Given the description of an element on the screen output the (x, y) to click on. 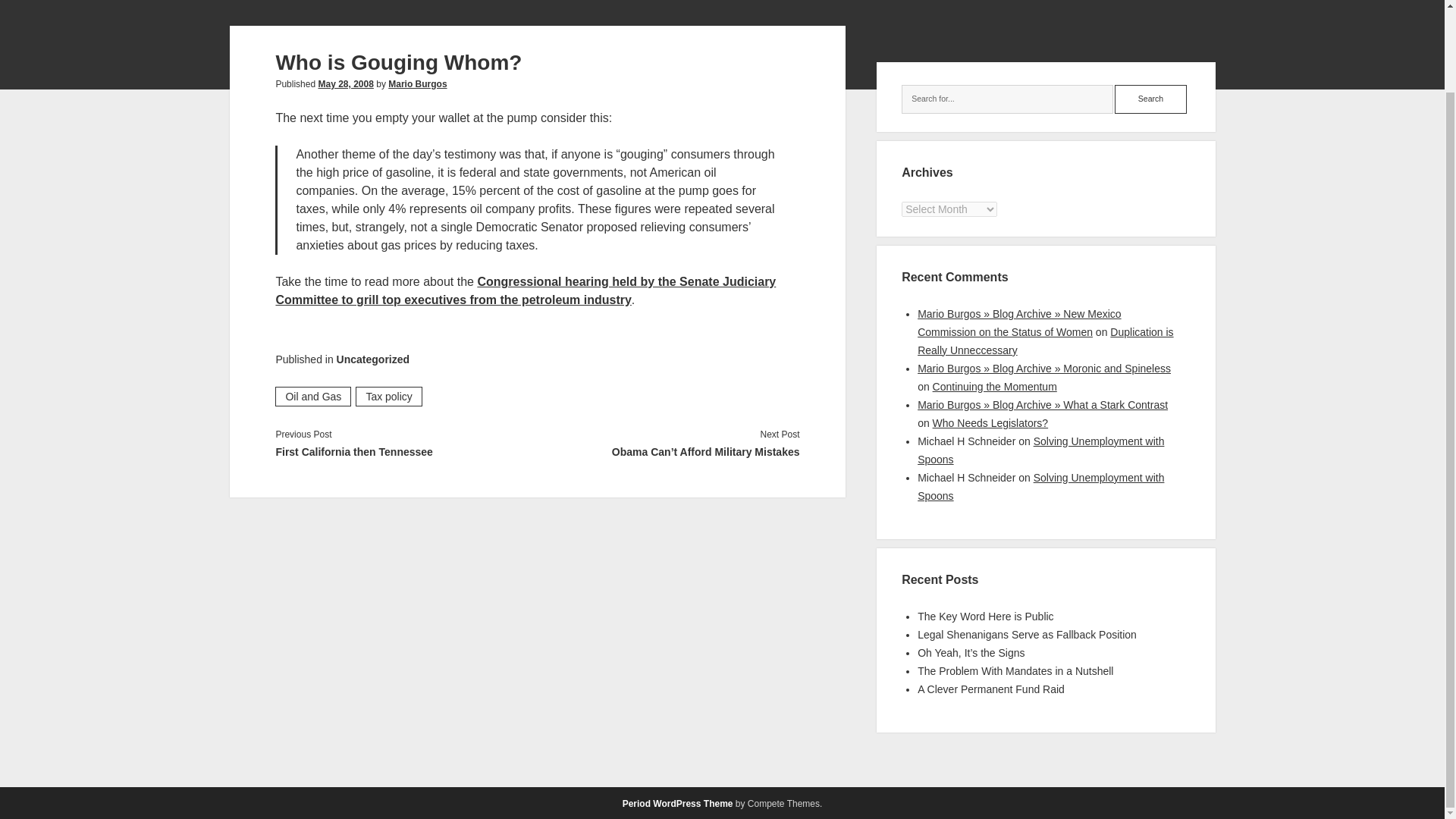
Solving Unemployment with Spoons (1040, 486)
Search (1150, 99)
Tax policy (388, 396)
Oil and Gas (312, 396)
View all posts tagged Tax policy (388, 396)
Period WordPress Theme (678, 803)
Legal Shenanigans Serve as Fallback Position (1027, 634)
Solving Unemployment with Spoons (1040, 450)
A Clever Permanent Fund Raid (990, 689)
